Given the description of an element on the screen output the (x, y) to click on. 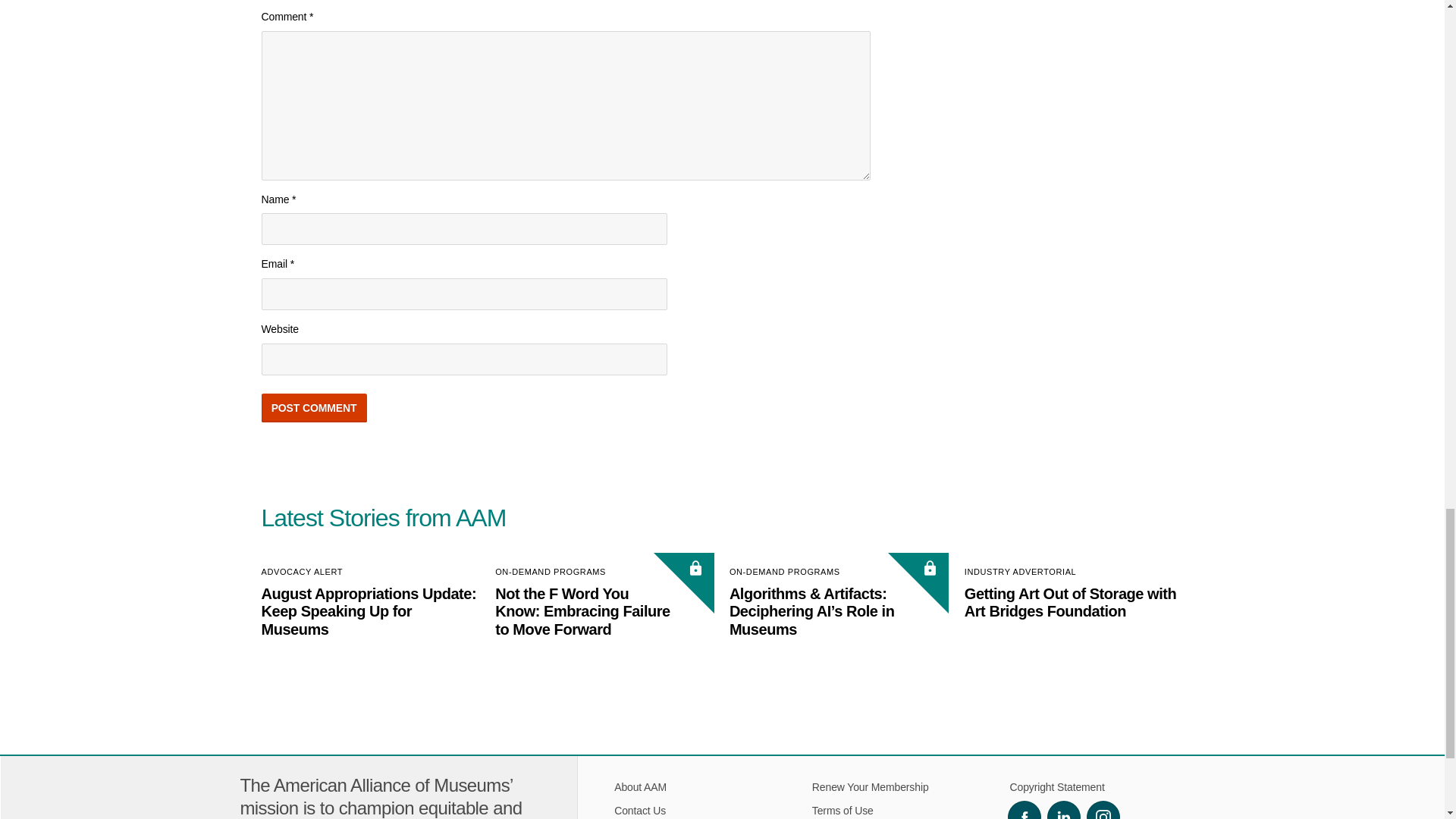
LinkedIn (1063, 809)
Instagram (1102, 809)
Post Comment (313, 408)
Facebook (1024, 809)
